Given the description of an element on the screen output the (x, y) to click on. 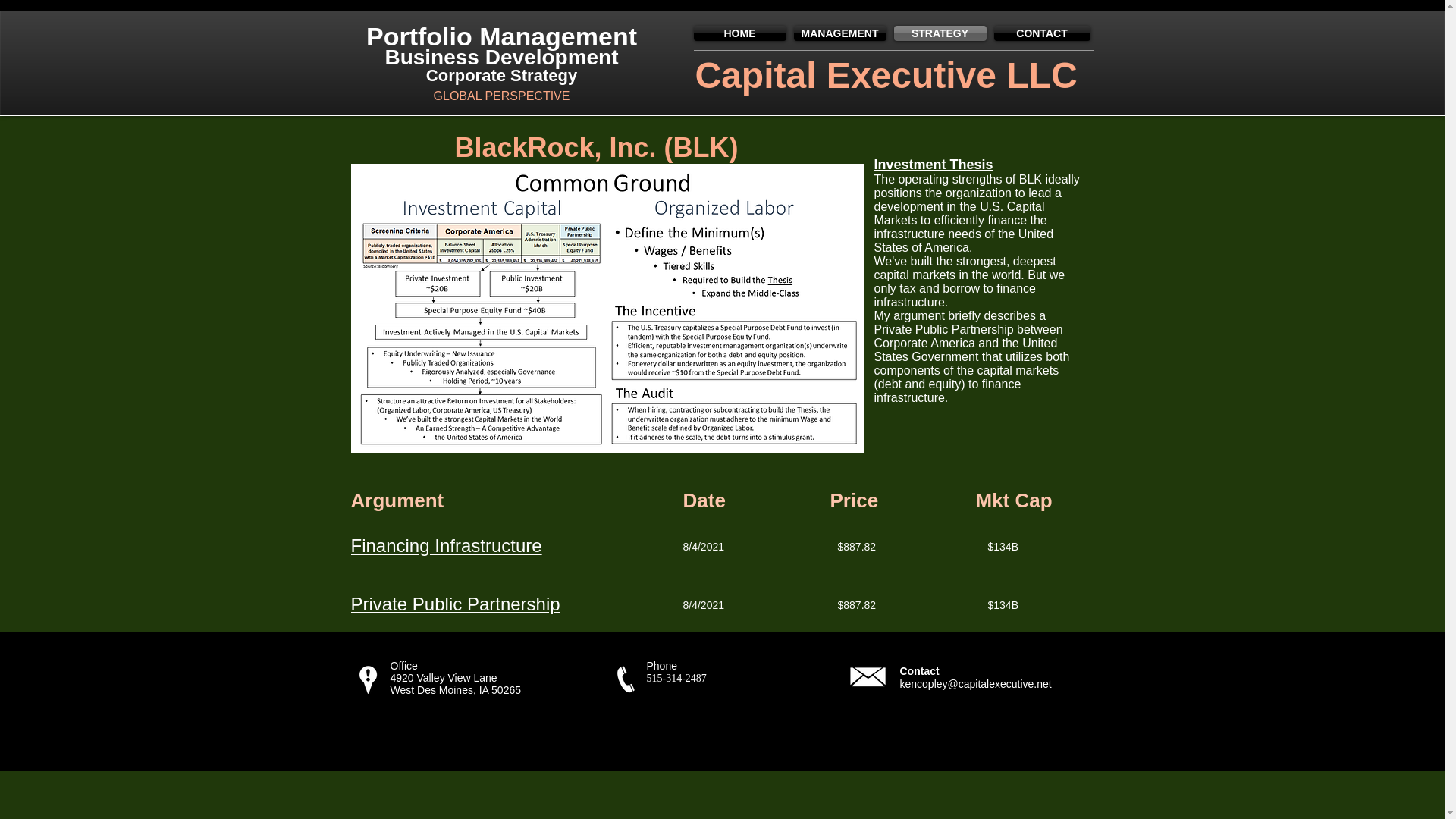
Private Public Partnership (454, 603)
GLOBAL PERSPECTIVE (501, 96)
CONTACT (1040, 32)
STRATEGY (939, 32)
D (489, 56)
Business (431, 56)
Corporate S (473, 75)
trategy (548, 75)
Financing Infrastructure (445, 545)
HOME (740, 32)
